Given the description of an element on the screen output the (x, y) to click on. 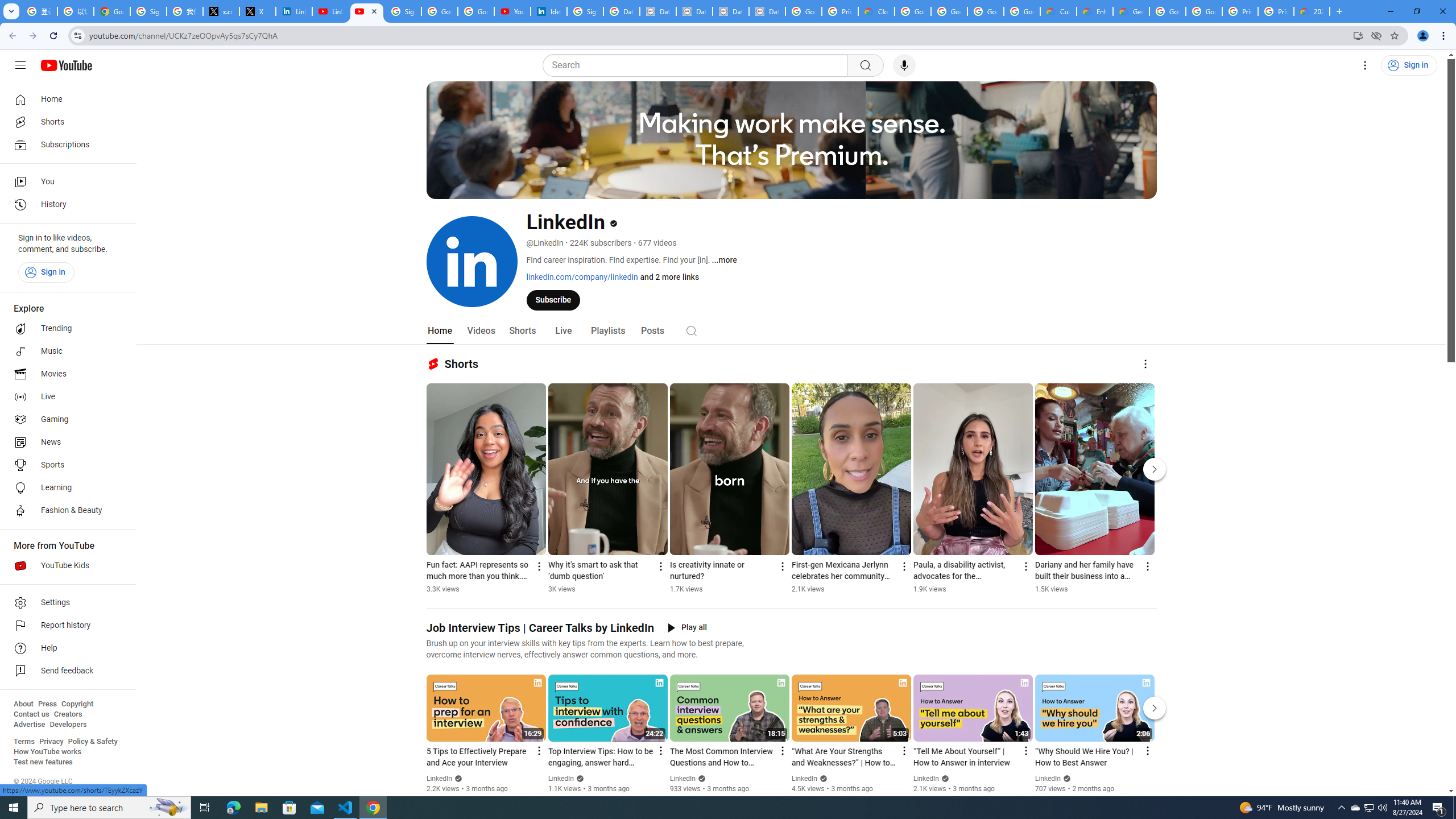
Test new features (42, 761)
Movies (64, 373)
Play all (687, 627)
Advertise (29, 724)
linkedin.com/company/linkedin (581, 276)
LinkedIn - YouTube (366, 11)
Gaming (64, 419)
Live (64, 396)
